Given the description of an element on the screen output the (x, y) to click on. 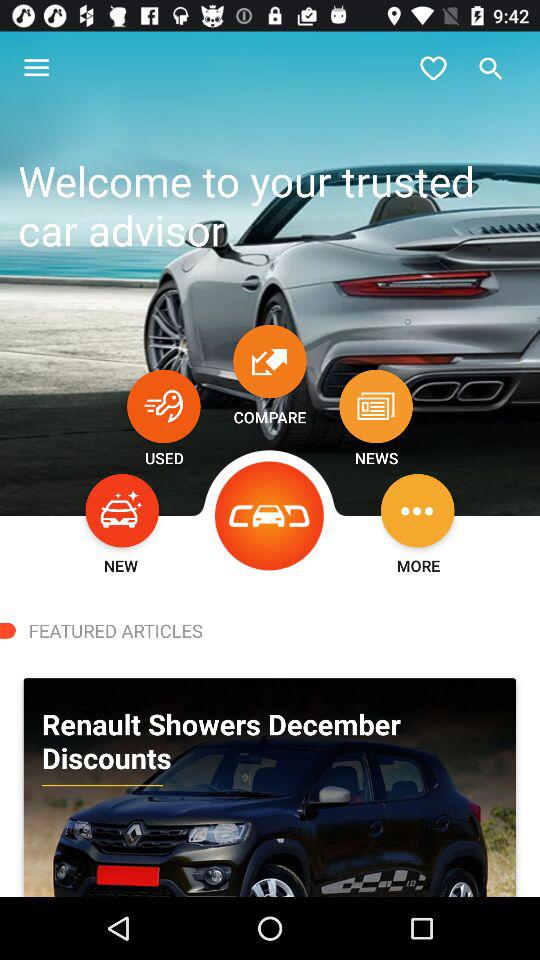
turn off the item above the new icon (121, 510)
